Given the description of an element on the screen output the (x, y) to click on. 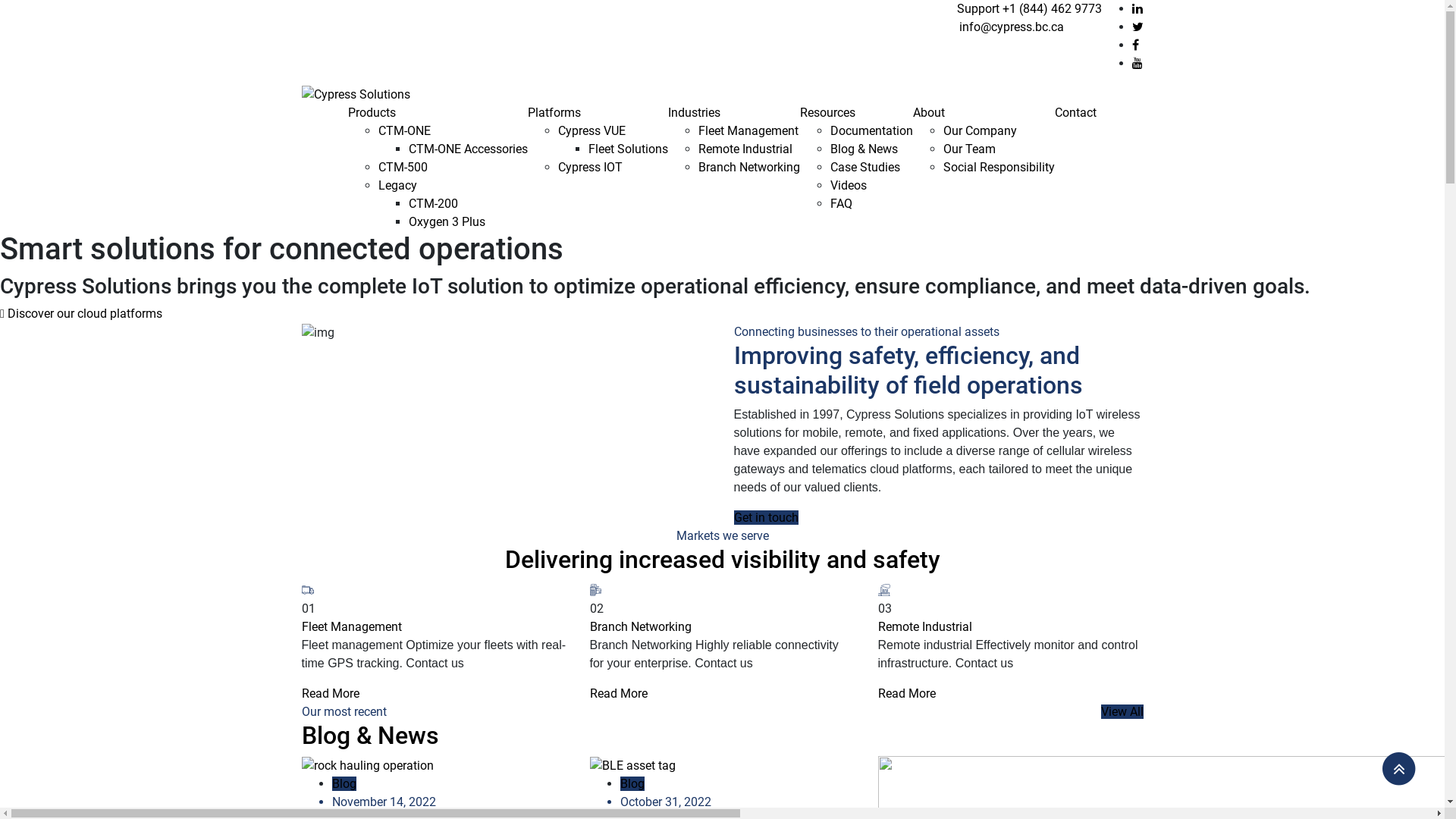
Get in touch Element type: text (766, 517)
Case Studies Element type: text (865, 167)
Oxygen 3 Plus Element type: text (446, 221)
Industries Element type: text (694, 112)
CTM-200 Element type: text (433, 203)
About Element type: text (928, 112)
View All Element type: text (1122, 711)
Read More Element type: text (906, 693)
Remote Industrial Element type: text (745, 148)
Videos Element type: text (848, 185)
CTM-ONE Accessories Element type: text (467, 148)
Our Company Element type: text (979, 130)
Fleet Solutions Element type: text (628, 148)
Cypress VUE Element type: text (591, 130)
Blog Element type: text (632, 783)
Documentation Element type: text (871, 130)
Resources Element type: text (827, 112)
Read More Element type: text (330, 693)
Our Team Element type: text (969, 148)
info@cypress.bc.ca Element type: text (1010, 26)
Contact Element type: text (1075, 112)
Platforms Element type: text (553, 112)
Fleet Management Element type: text (748, 130)
Social Responsibility Element type: text (998, 167)
Products Element type: text (371, 112)
Cypress IOT Element type: text (590, 167)
CTM-500 Element type: text (402, 167)
CTM-ONE Element type: text (404, 130)
Blog Element type: text (344, 783)
Branch Networking Element type: text (749, 167)
Discover our cloud platforms Element type: text (81, 313)
Legacy Element type: text (397, 185)
Read More Element type: text (618, 693)
FAQ Element type: text (841, 203)
Support +1 (844) 462 9773 Element type: text (1029, 8)
Blog & News Element type: text (863, 148)
